Given the description of an element on the screen output the (x, y) to click on. 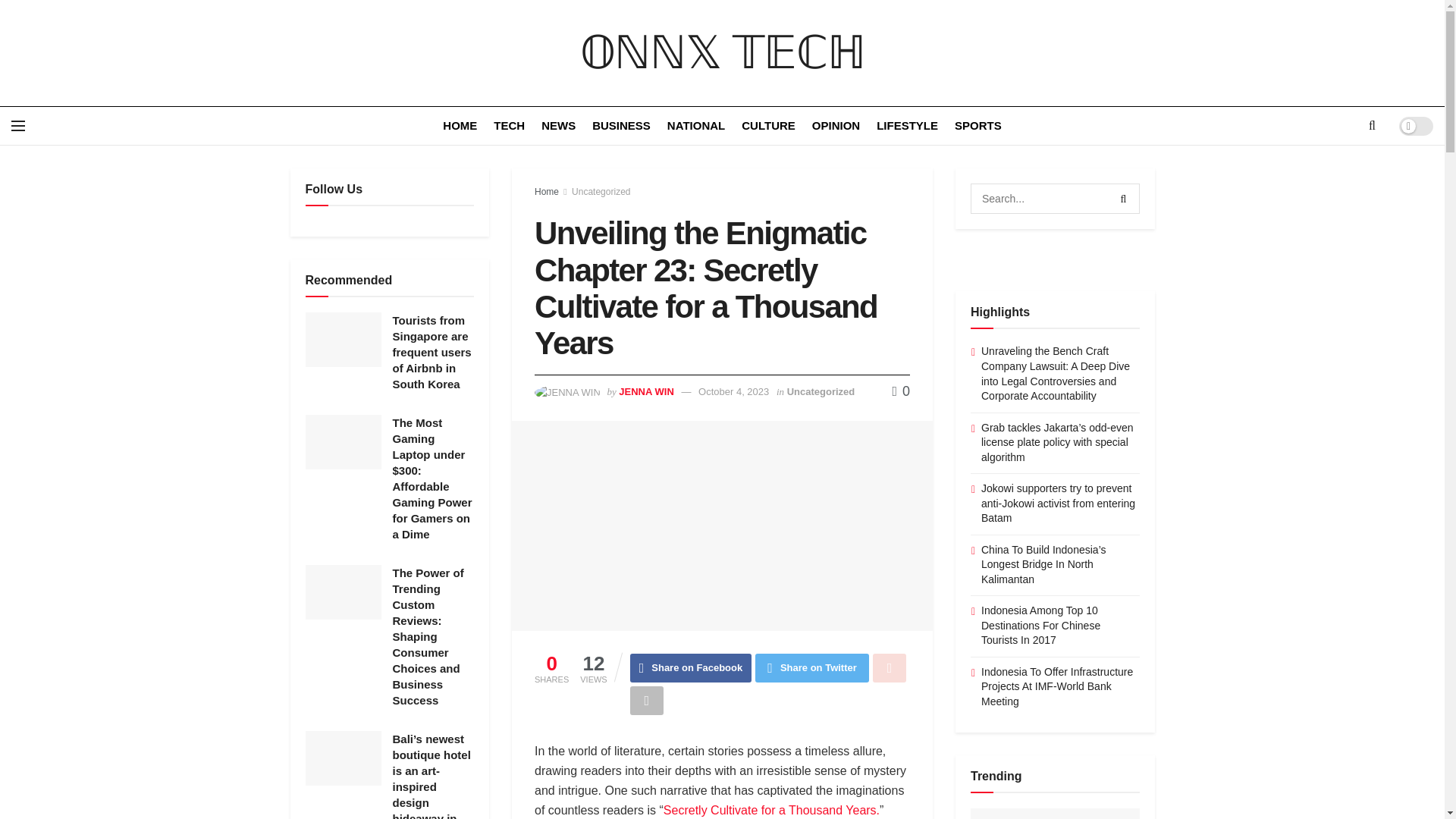
TECH (508, 125)
Home (546, 191)
NATIONAL (695, 125)
HOME (459, 125)
October 4, 2023 (733, 391)
LIFESTYLE (906, 125)
NEWS (558, 125)
Share on Twitter (812, 667)
0 (900, 391)
JENNA WIN (645, 391)
